Given the description of an element on the screen output the (x, y) to click on. 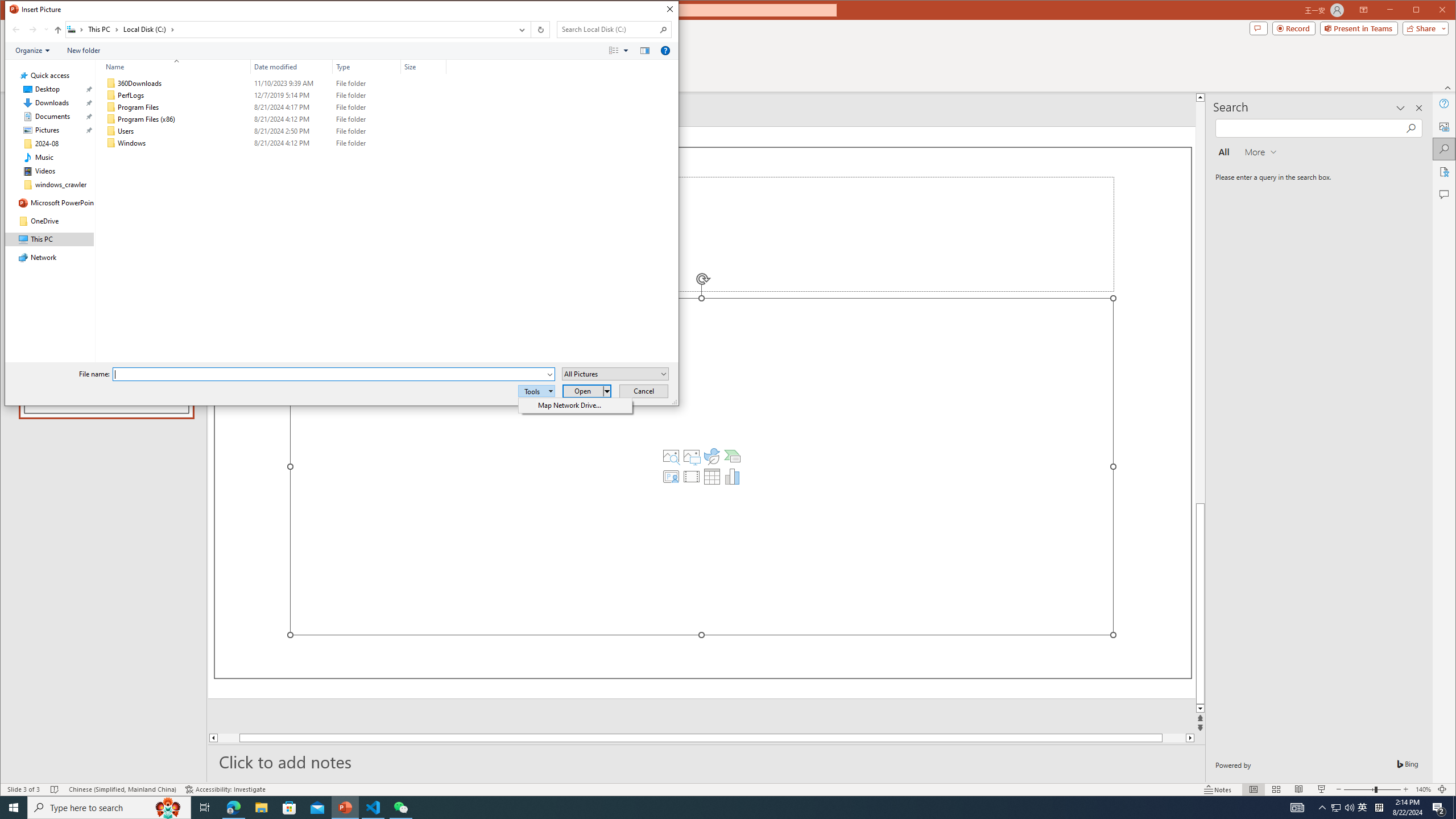
Tray Input Indicator - Chinese (Simplified, China) (1378, 807)
Back (Alt + Left Arrow) (15, 29)
Recent locations (45, 29)
Organize (32, 50)
Name (173, 66)
Task View (204, 807)
Line down (1200, 709)
Q2790: 100% (1349, 807)
